Given the description of an element on the screen output the (x, y) to click on. 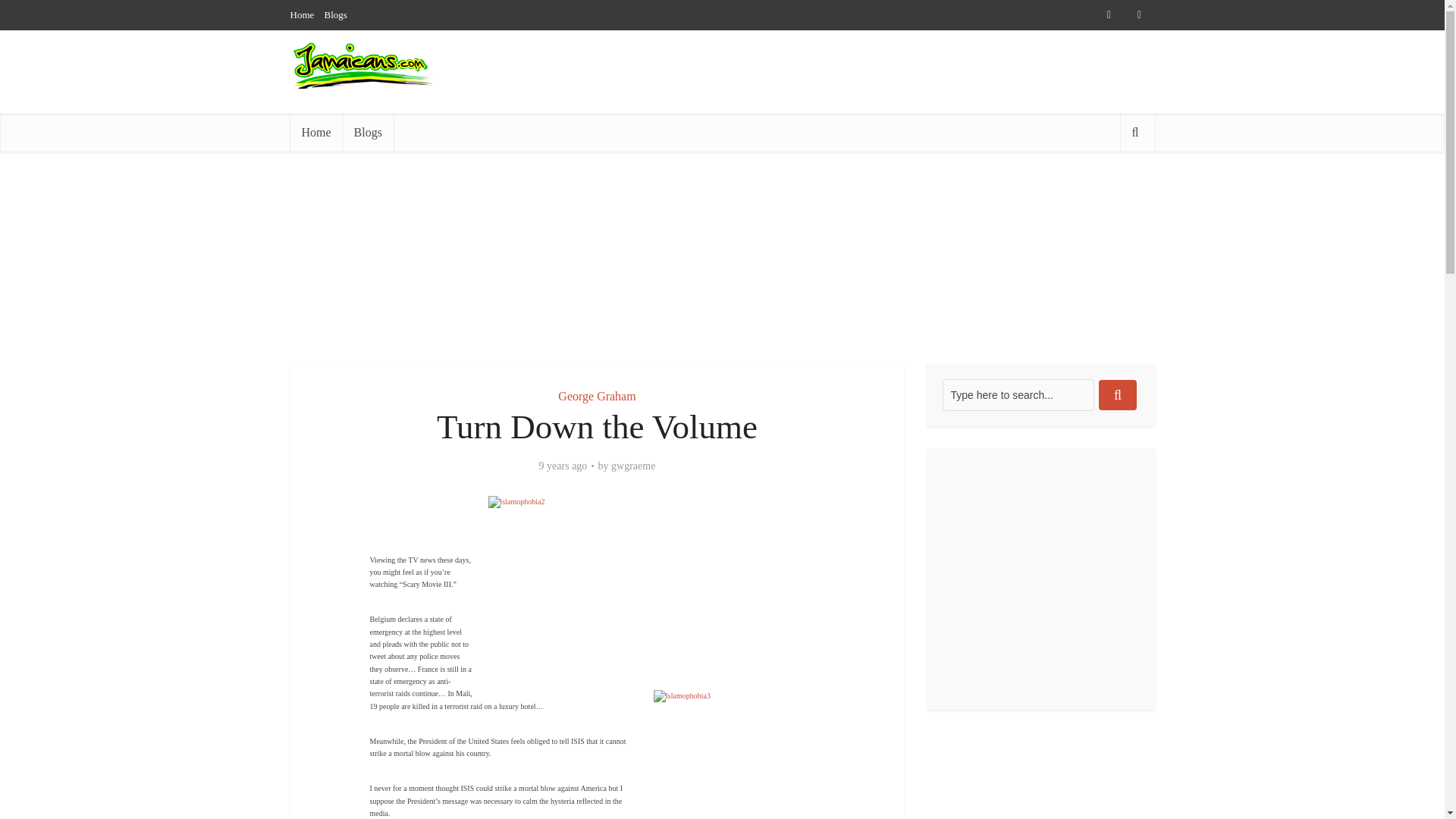
Type here to search... (1017, 395)
Blogs (367, 132)
George Graham (595, 395)
Blogs (335, 14)
gwgraeme (633, 466)
Home (315, 132)
Home (301, 14)
Type here to search... (1017, 395)
